Given the description of an element on the screen output the (x, y) to click on. 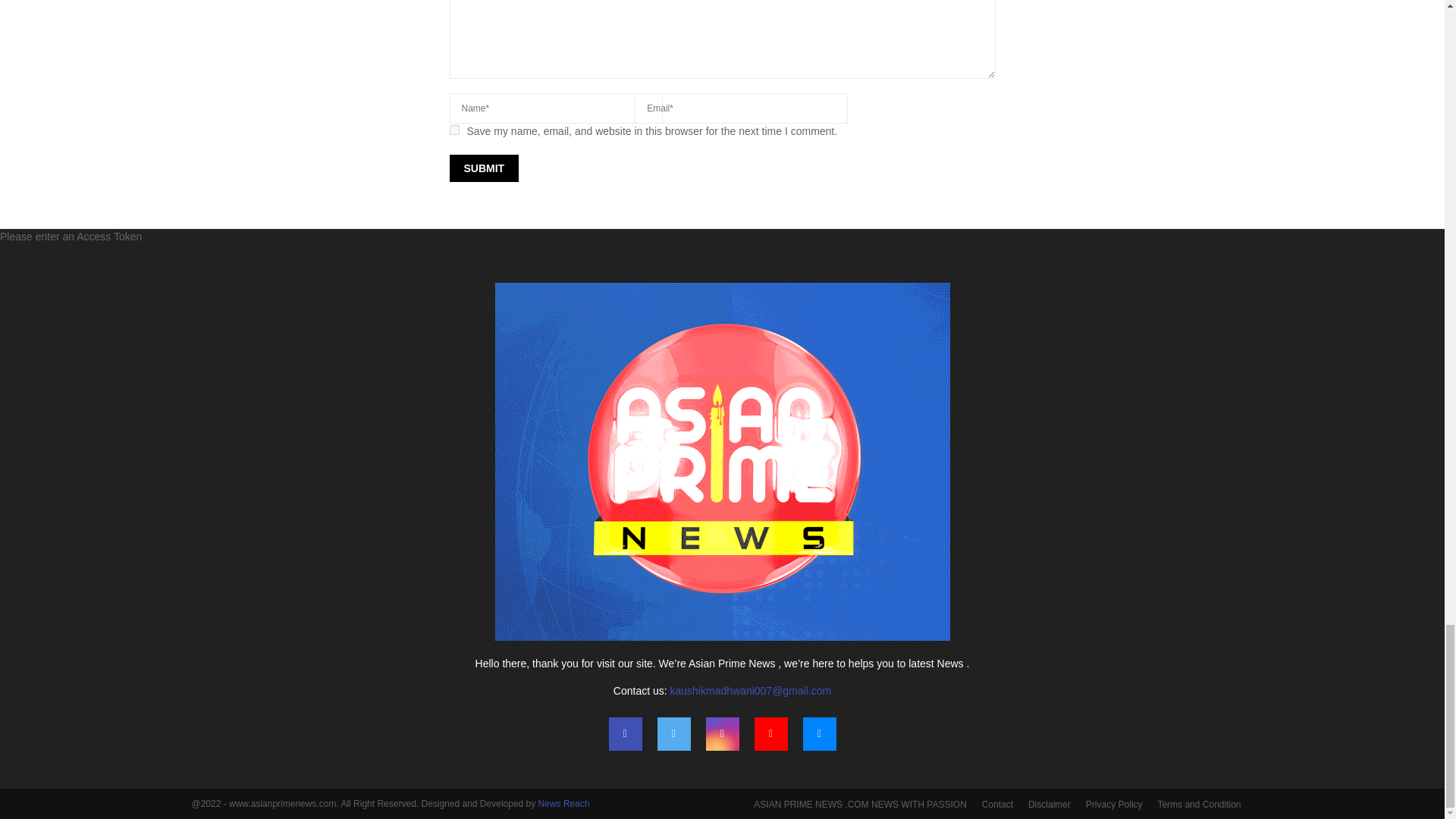
Submit (483, 167)
yes (453, 130)
